Given the description of an element on the screen output the (x, y) to click on. 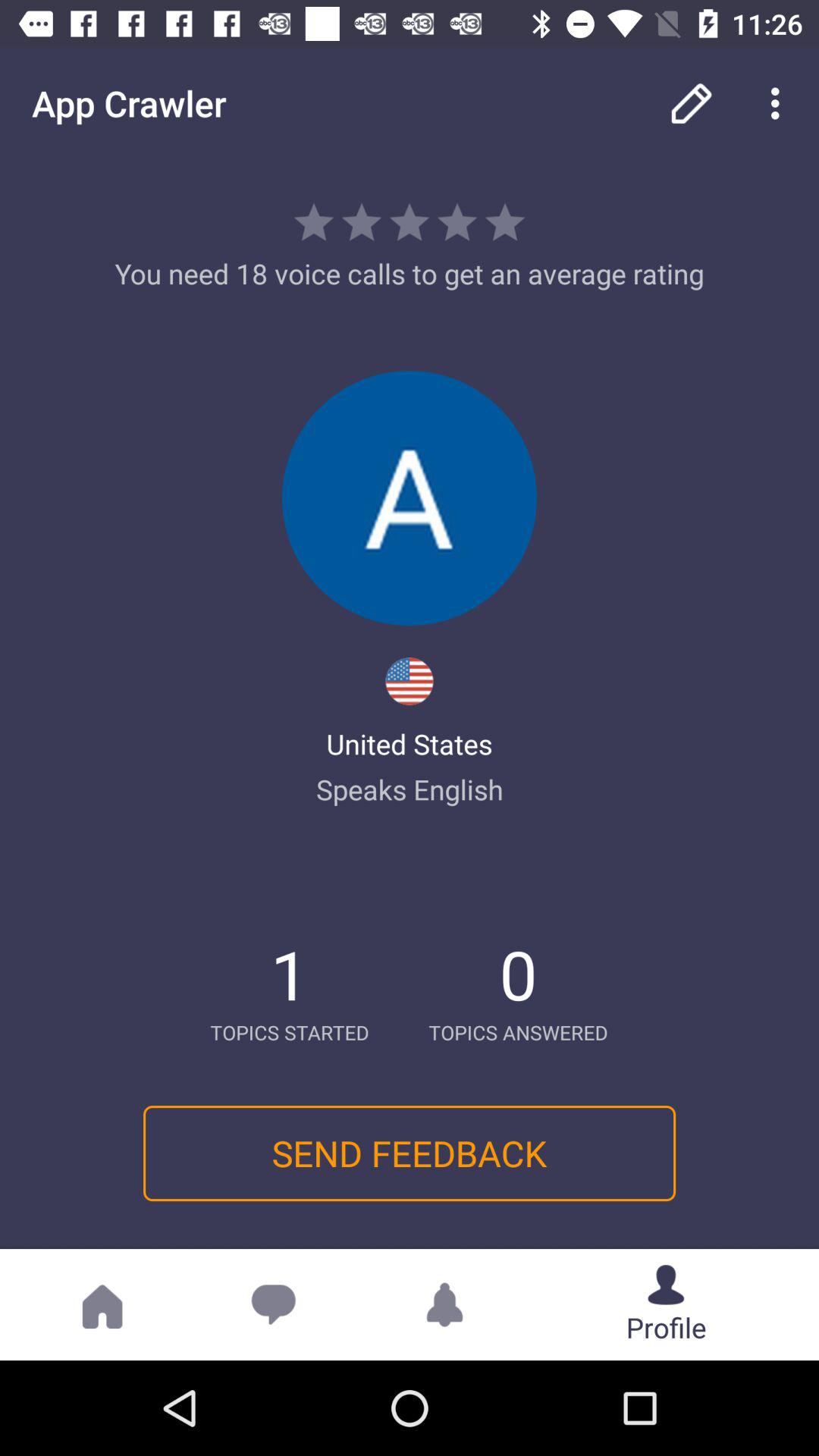
profile image (409, 497)
